Given the description of an element on the screen output the (x, y) to click on. 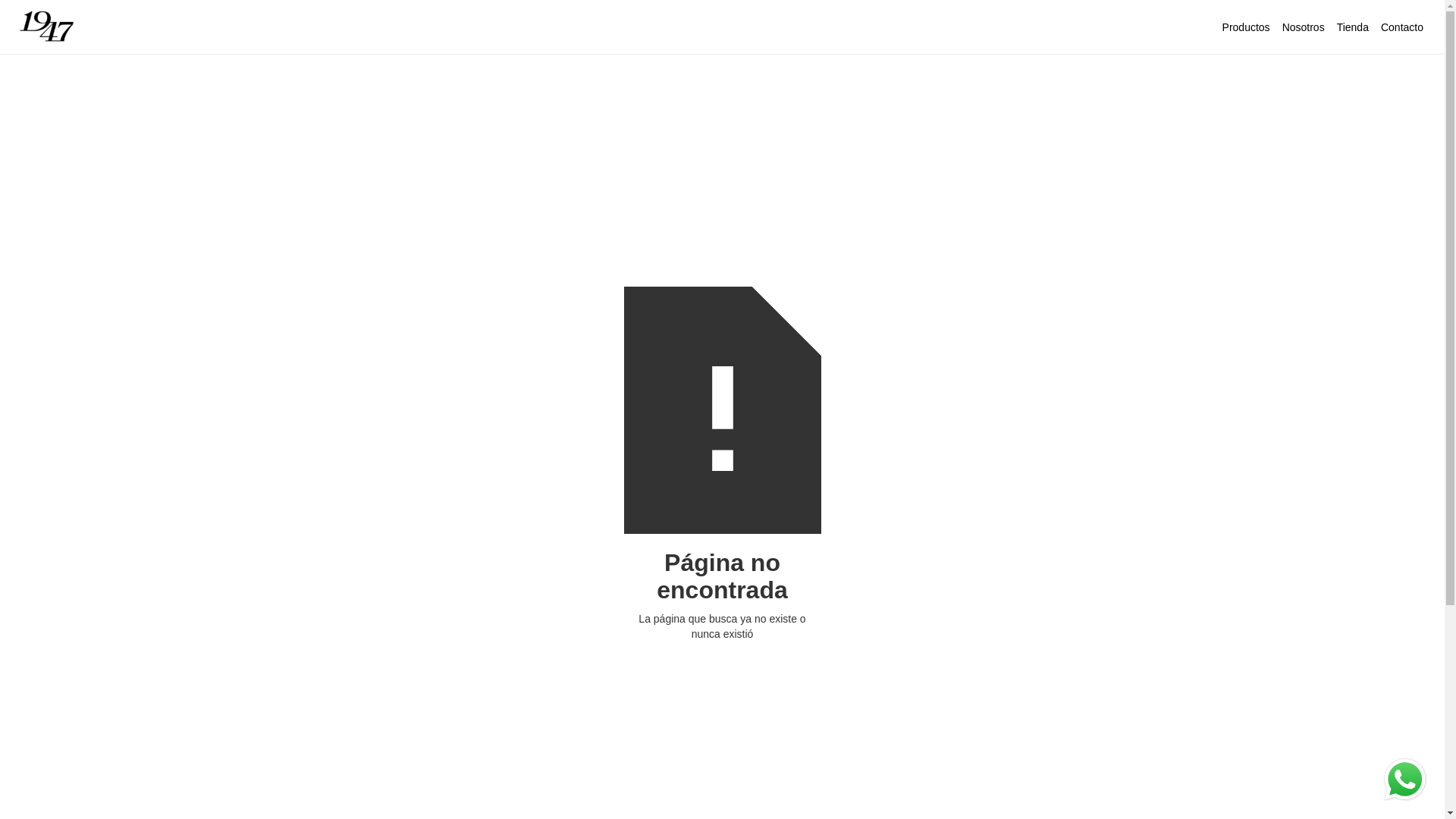
Tienda Element type: text (1352, 26)
Productos Element type: text (1246, 26)
Nosotros Element type: text (1303, 26)
Contacto Element type: text (1401, 26)
